Given the description of an element on the screen output the (x, y) to click on. 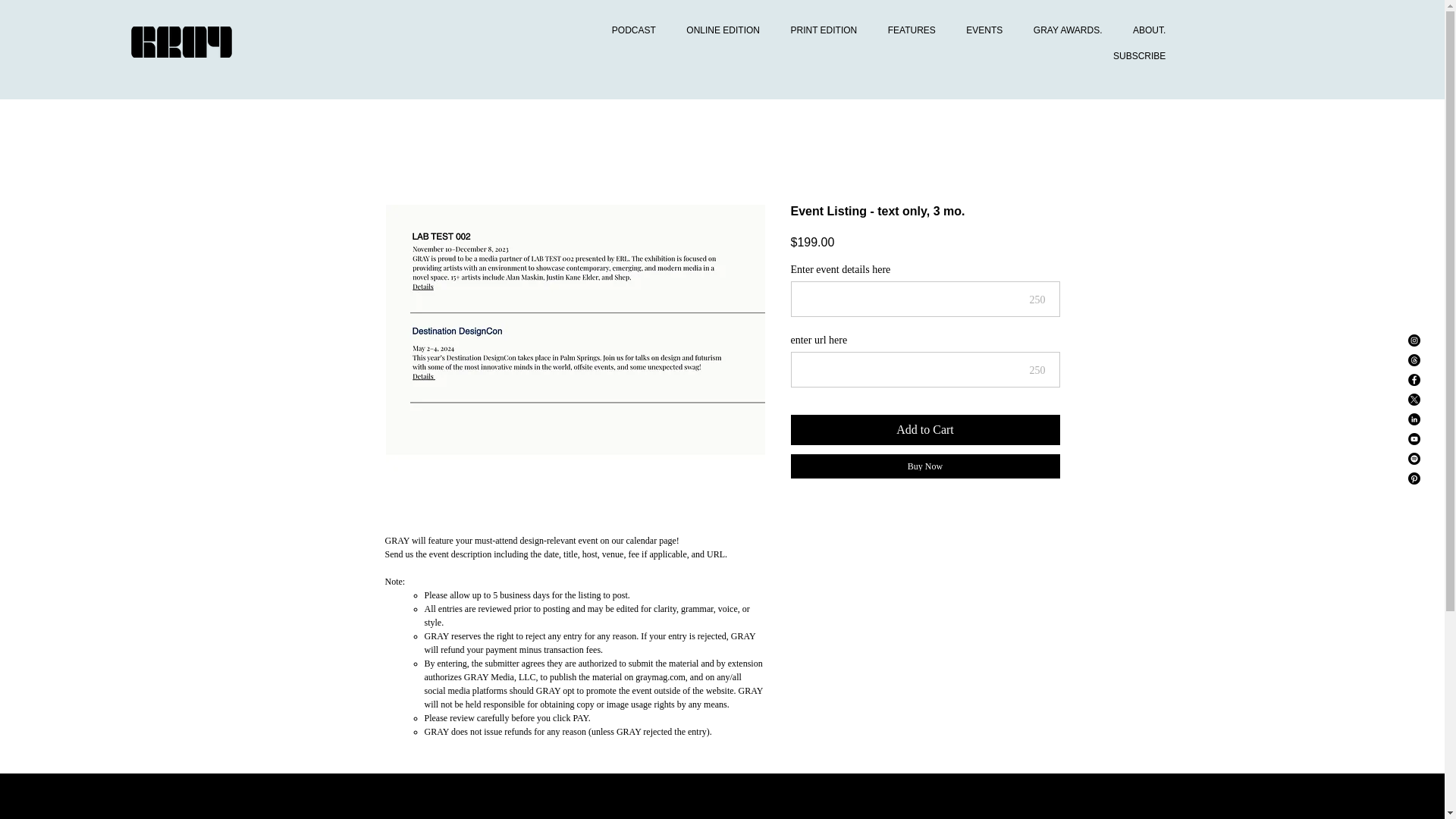
Add to Cart (924, 429)
Buy Now (924, 466)
PODCAST (628, 30)
GRAY AWARDS. (1062, 30)
